Given the description of an element on the screen output the (x, y) to click on. 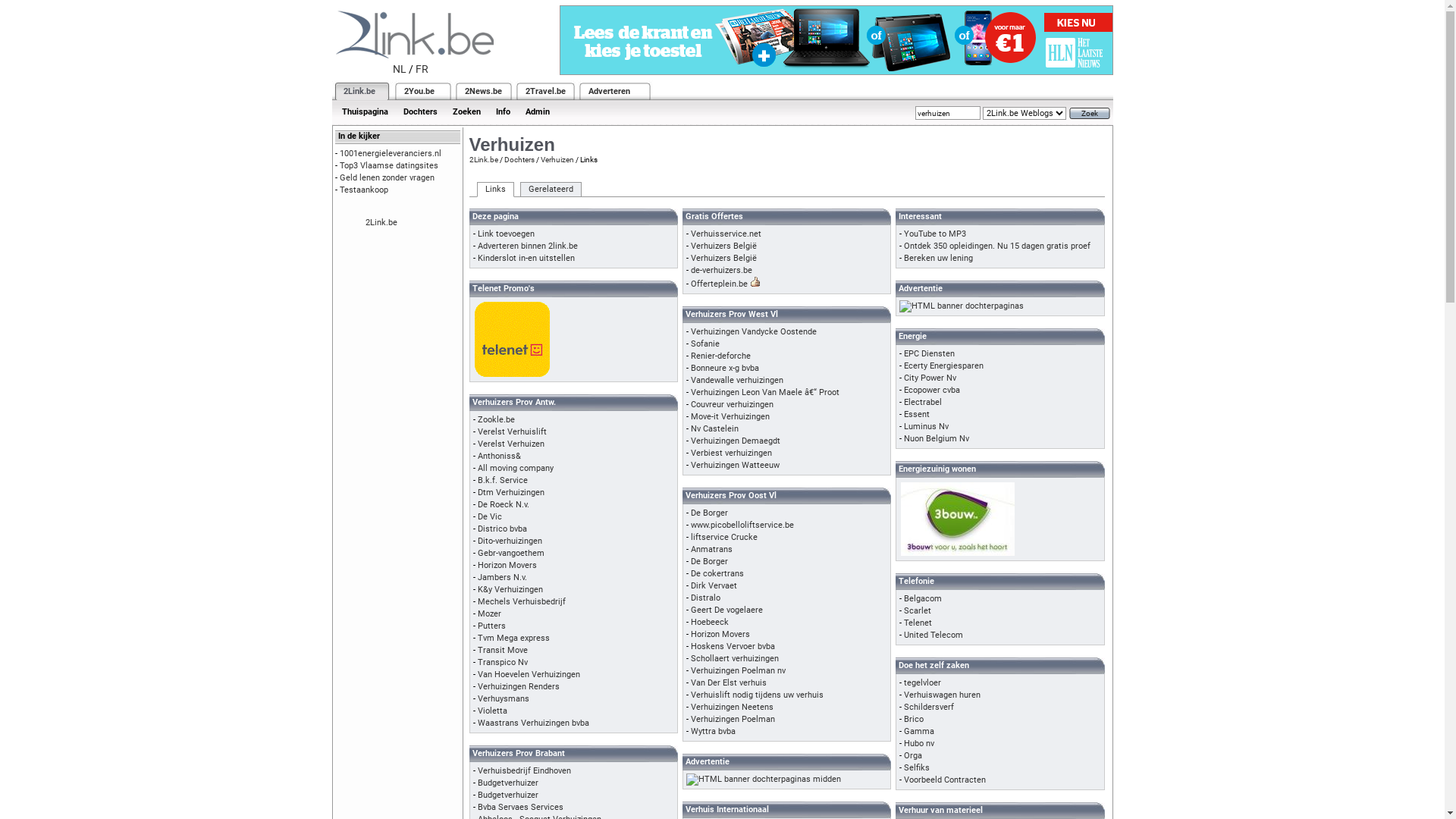
Offerteplein.be Element type: text (718, 283)
Dito-verhuizingen Element type: text (509, 541)
B.k.f. Service Element type: text (502, 480)
Budgetverhuizer Element type: text (507, 782)
Zoek Element type: text (1089, 113)
Putters Element type: text (491, 625)
Geld lenen zonder vragen Element type: text (386, 177)
Verbiest verhuizingen Element type: text (730, 453)
City Power Nv Element type: text (929, 377)
Waastrans Verhuizingen bvba Element type: text (533, 723)
De Vic Element type: text (489, 516)
Verhuizingen Neetens Element type: text (731, 707)
Vandewalle verhuizingen Element type: text (736, 380)
1001energieleveranciers.nl Element type: text (390, 153)
Anmatrans Element type: text (711, 549)
Verhuizingen Vandycke Oostende Element type: text (753, 331)
EPC Diensten Element type: text (928, 353)
Transit Move Element type: text (502, 650)
Horizon Movers Element type: text (506, 565)
All moving company Element type: text (515, 468)
Dochters Element type: text (518, 159)
2Link.be Element type: text (381, 222)
Verhuiswagen huren Element type: text (941, 694)
De Borger Element type: text (709, 561)
Telenet Element type: text (917, 622)
Verhuizingen Poelman Element type: text (732, 719)
Jambers N.v. Element type: text (502, 577)
Dochters Element type: text (420, 111)
Brico Element type: text (913, 719)
Sofanie Element type: text (704, 343)
Verhuislift nodig tijdens uw verhuis Element type: text (756, 694)
Verhuizingen Poelman nv Element type: text (737, 670)
Admin Element type: text (536, 111)
Geert De vogelaere Element type: text (726, 610)
Horizon Movers Element type: text (719, 634)
Transpico Nv Element type: text (502, 662)
Districo bvba Element type: text (502, 528)
Electrabel Element type: text (922, 402)
United Telecom Element type: text (933, 635)
Luminus Nv Element type: text (925, 426)
Anthoniss& Element type: text (498, 456)
2Travel.be Element type: text (544, 91)
2Link.be Element type: text (358, 91)
FR Element type: text (421, 68)
Hoskens Vervoer bvba Element type: text (732, 646)
Tvm Mega express Element type: text (513, 638)
Gerelateerd Element type: text (550, 189)
Bonneure x-g bvba Element type: text (724, 368)
Testaankoop Element type: text (363, 189)
Schildersverf Element type: text (928, 707)
Selfiks Element type: text (916, 767)
Thuispagina Element type: text (364, 111)
Gebr-vangoethem Element type: text (510, 553)
Orga Element type: text (912, 755)
2News.be Element type: text (482, 91)
Link toevoegen Element type: text (505, 233)
De Borger Element type: text (709, 512)
Ecopower cvba Element type: text (931, 390)
Verhuysmans Element type: text (503, 698)
Hubo nv Element type: text (918, 743)
K&y Verhuizingen Element type: text (509, 589)
Verelst Verhuislift Element type: text (511, 431)
de-verhuizers.be Element type: text (721, 270)
Violetta Element type: text (492, 710)
YouTube to MP3 Element type: text (934, 233)
Adverteren binnen 2link.be Element type: text (527, 246)
Zookle.be Element type: text (495, 419)
tegelvloer Element type: text (922, 682)
Verhuisbedrijf Eindhoven Element type: text (524, 770)
Adverteren Element type: text (609, 91)
Verhuizen Element type: text (556, 159)
Verhuizingen Renders Element type: text (518, 686)
Belgacom Element type: text (922, 598)
Gamma Element type: text (918, 731)
Voorbeeld Contracten Element type: text (944, 779)
Van Hoevelen Verhuizingen Element type: text (528, 674)
Links Element type: text (494, 189)
Van Der Elst verhuis Element type: text (728, 682)
Dtm Verhuizingen Element type: text (510, 492)
Renier-deforche Element type: text (720, 355)
Bvba Servaes Services Element type: text (520, 807)
www.picobelloliftservice.be Element type: text (741, 525)
2Link.be Element type: text (482, 159)
Hoebeeck Element type: text (709, 622)
Zoeken Element type: text (465, 111)
Ecerty Energiesparen Element type: text (943, 365)
2You.be Element type: text (418, 91)
Move-it Verhuizingen Element type: text (729, 416)
Nv Castelein Element type: text (714, 428)
Bereken uw lening Element type: text (937, 258)
De cokertrans Element type: text (716, 573)
NL Element type: text (399, 68)
Scarlet Element type: text (917, 610)
Couvreur verhuizingen Element type: text (731, 404)
Verhuizingen Watteeuw Element type: text (734, 465)
Top3 Vlaamse datingsites Element type: text (388, 165)
Info Element type: text (502, 111)
Mozer Element type: text (489, 613)
Dirk Vervaet Element type: text (713, 585)
Verhuizingen Demaegdt Element type: text (735, 440)
liftservice Crucke Element type: text (723, 537)
Kinderslot in-en uitstellen Element type: text (525, 258)
Schollaert verhuizingen Element type: text (734, 658)
De Roeck N.v. Element type: text (503, 504)
Budgetverhuizer Element type: text (507, 795)
Mechels Verhuisbedrijf Element type: text (521, 601)
Verhuisservice.net Element type: text (725, 233)
Essent Element type: text (916, 414)
Nuon Belgium Nv Element type: text (936, 438)
Ontdek 350 opleidingen. Nu 15 dagen gratis proef Element type: text (996, 246)
Distralo Element type: text (705, 597)
Wyttra bvba Element type: text (712, 731)
Verelst Verhuizen Element type: text (510, 443)
